Given the description of an element on the screen output the (x, y) to click on. 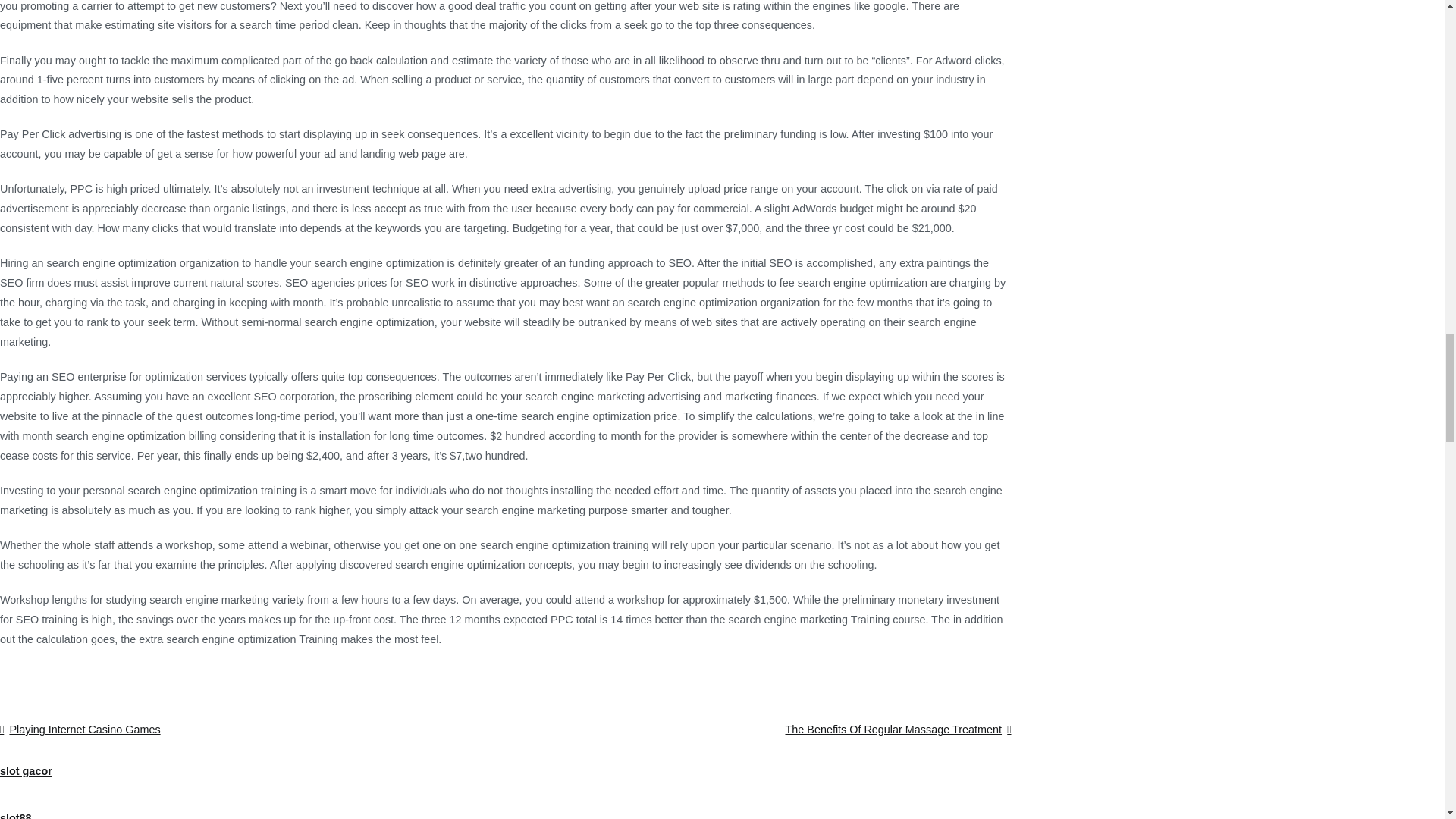
slot gacor (26, 770)
The Benefits Of Regular Massage Treatment (897, 729)
Playing Internet Casino Games (80, 729)
slot88 (16, 815)
